Given the description of an element on the screen output the (x, y) to click on. 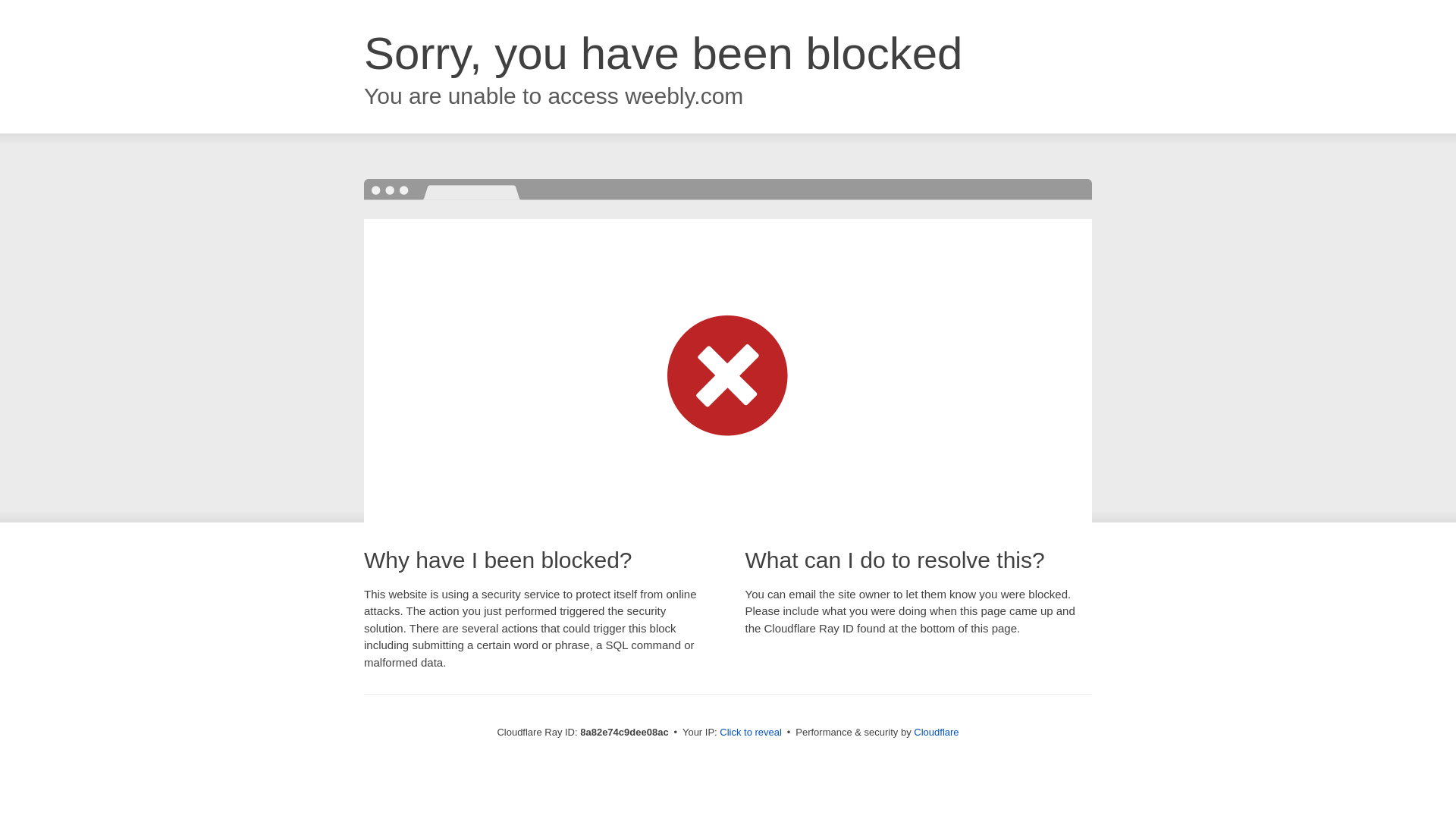
Click to reveal (750, 732)
Cloudflare (936, 731)
